Given the description of an element on the screen output the (x, y) to click on. 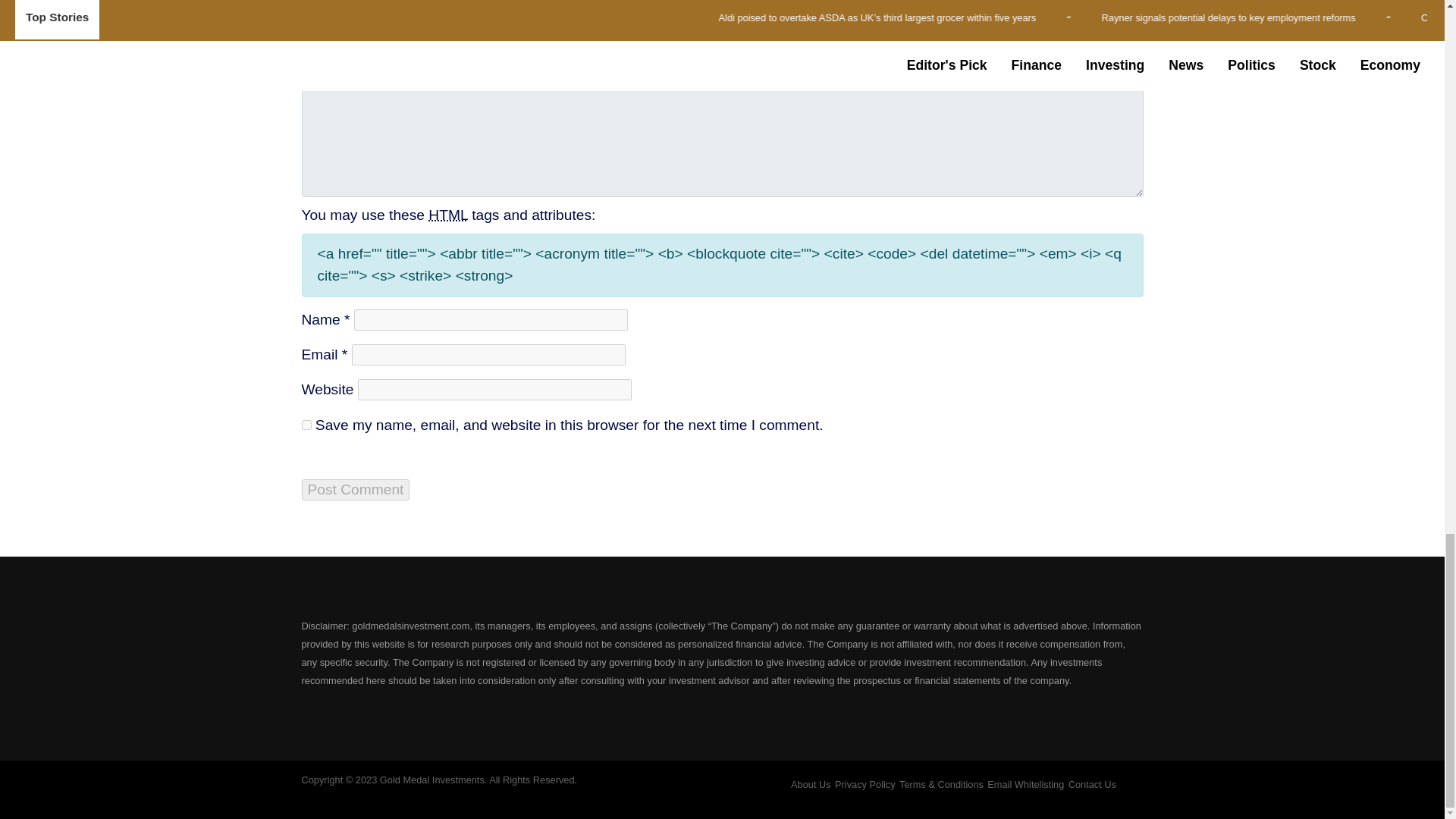
Post Comment (355, 489)
HyperText Markup Language (447, 214)
About Us (810, 784)
Email Whitelisting (1025, 784)
Privacy Policy (864, 784)
Contact Us (1092, 784)
yes (306, 424)
Post Comment (355, 489)
